Given the description of an element on the screen output the (x, y) to click on. 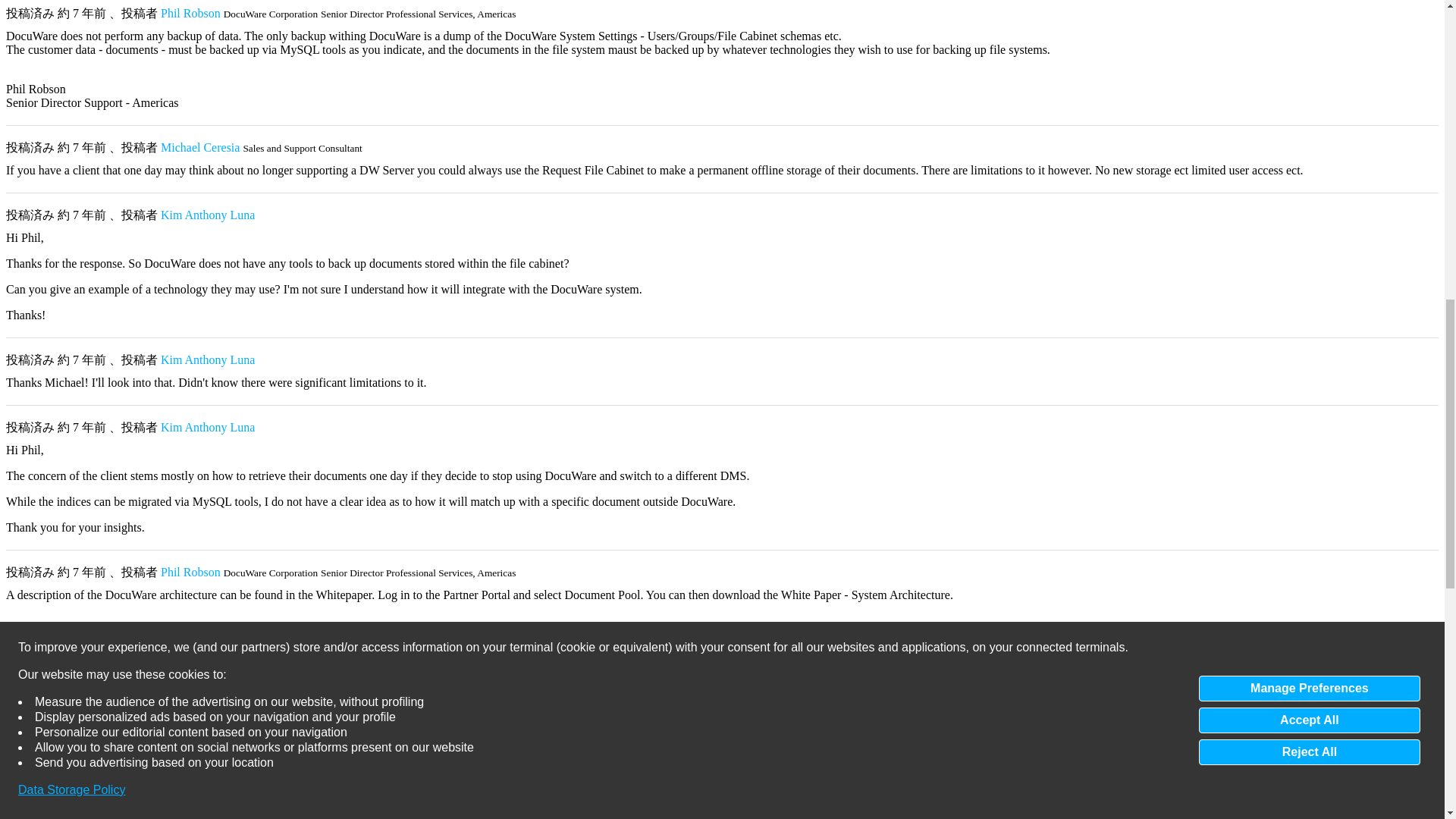
Michael Ceresia (200, 146)
Phil Robson (190, 12)
Phil Robson (190, 12)
Kim Anthony Luna (207, 214)
